Given the description of an element on the screen output the (x, y) to click on. 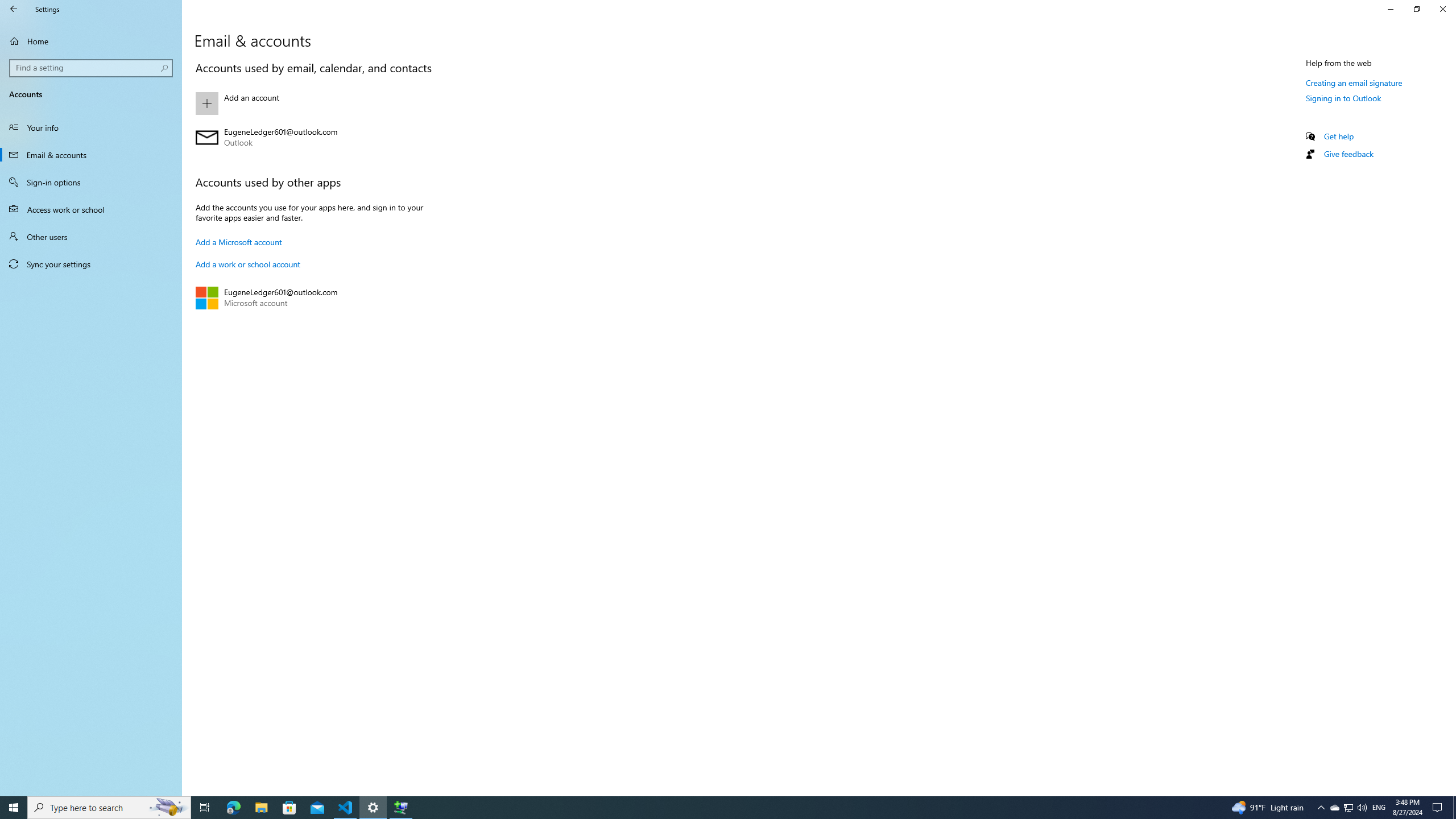
Creating an email signature (1354, 82)
Signing in to Outlook (1343, 97)
Back (13, 9)
Give feedback (1348, 153)
Add a Microsoft account (238, 241)
Email & accounts (91, 154)
Home (91, 40)
Your info (91, 126)
EugeneLedger601@outlook.com Outlook (319, 137)
Get help (1338, 136)
